Given the description of an element on the screen output the (x, y) to click on. 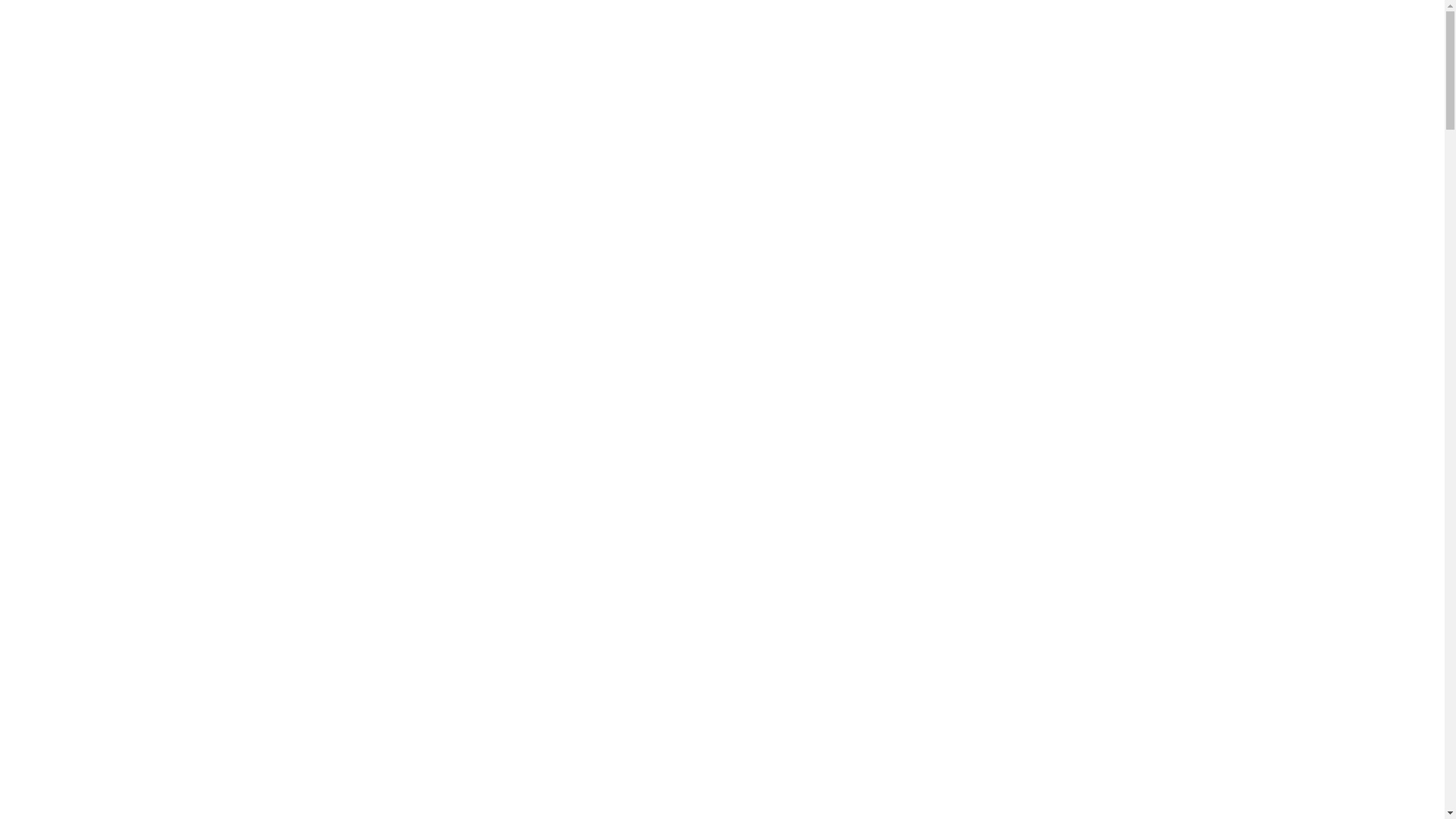
WhatsApp Element type: text (911, 48)
+375 (29) 768-44-81 Element type: text (764, 48)
Viber, Element type: text (862, 48)
e-ladestation@mail.ru Element type: text (582, 48)
